Given the description of an element on the screen output the (x, y) to click on. 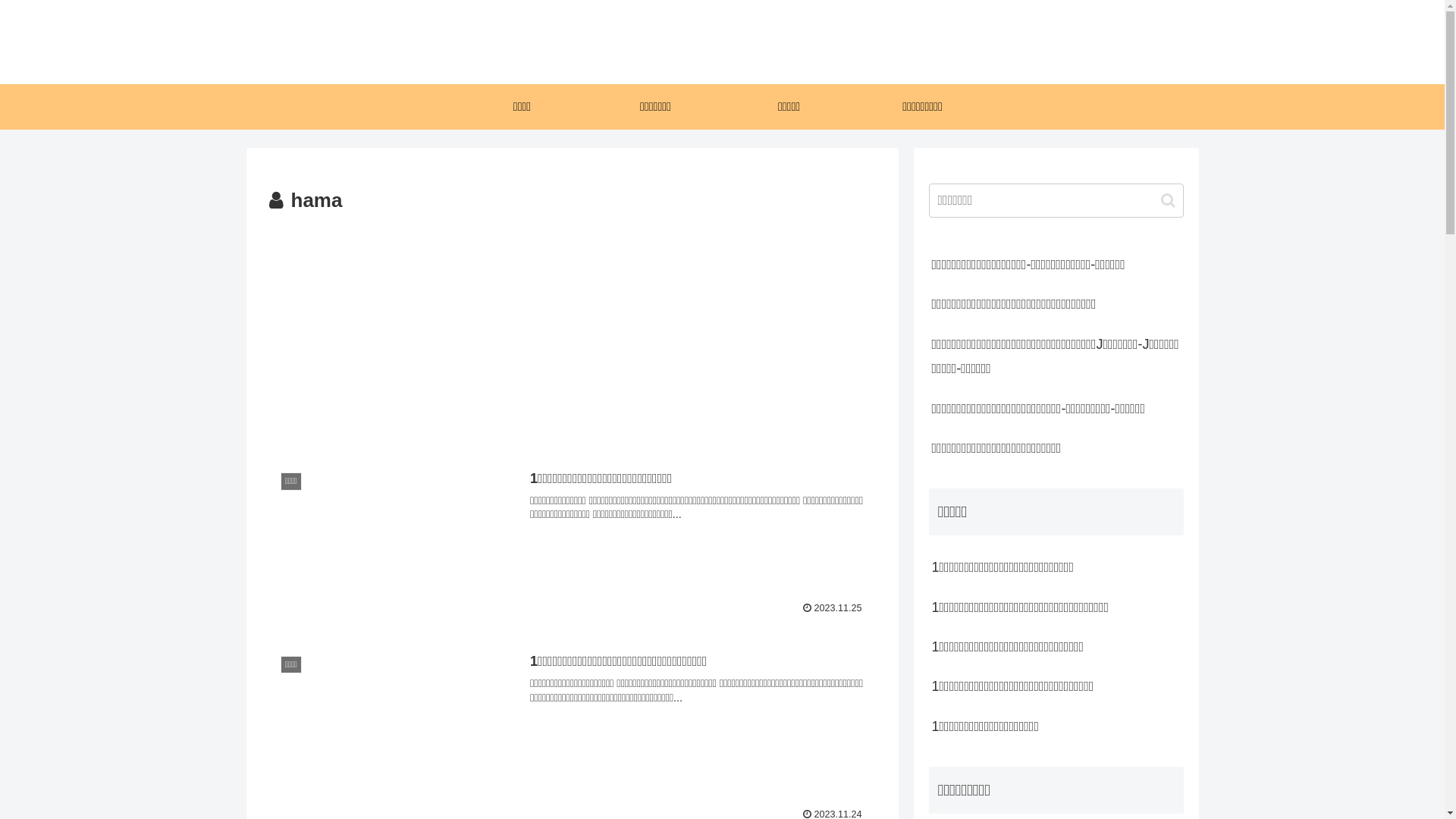
Advertisement Element type: hover (571, 331)
